Given the description of an element on the screen output the (x, y) to click on. 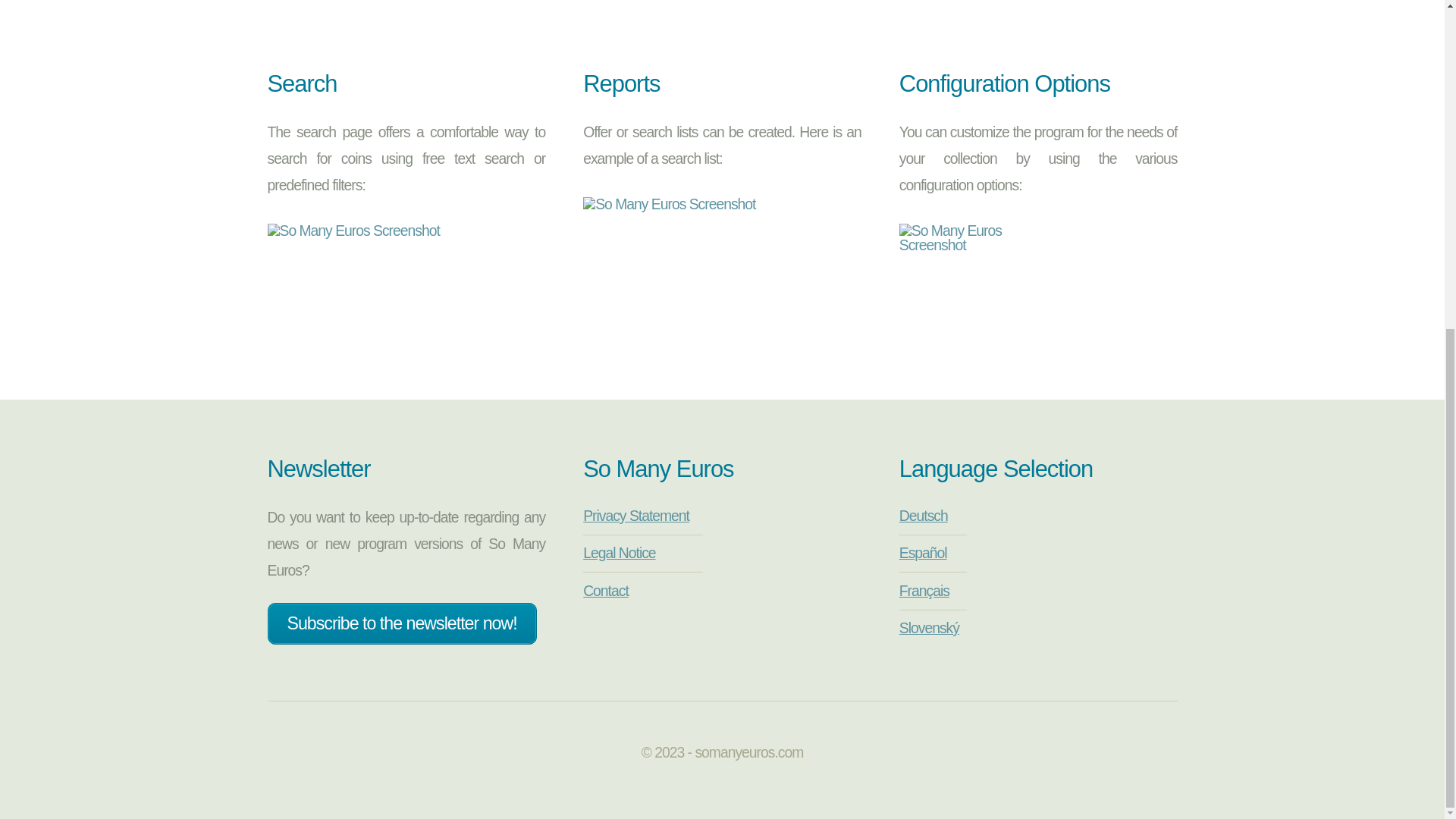
Legal Notice (619, 553)
Contact Form (605, 590)
Privacy Statement (635, 515)
Privacy Statement (635, 515)
So Many Euros Newsletter (400, 623)
Subscribe to the newsletter now! (400, 623)
Deutsch (923, 515)
Deutsch (923, 515)
Legal Notice (619, 553)
Contact (605, 590)
